Given the description of an element on the screen output the (x, y) to click on. 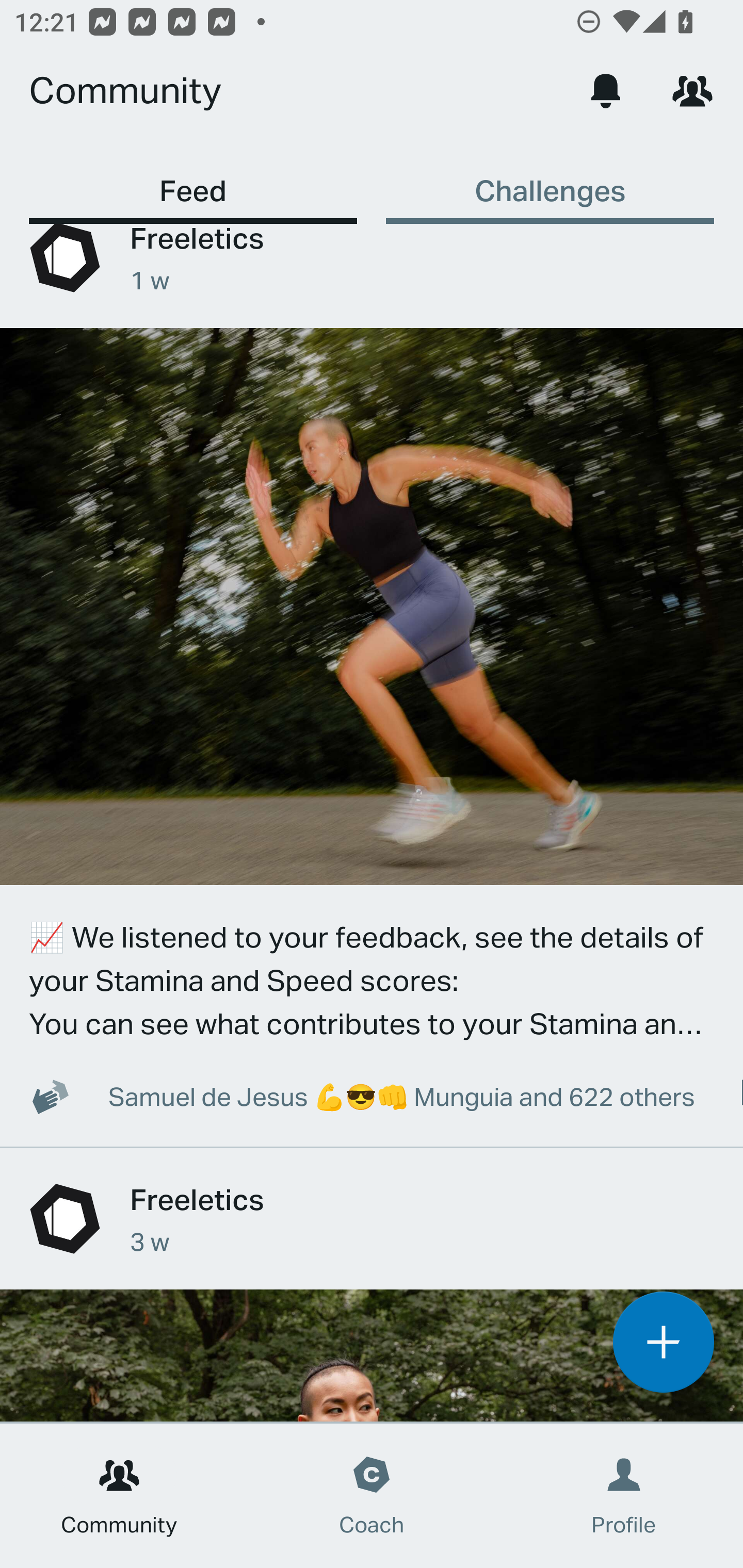
Notifications (605, 90)
Network (692, 90)
Feed (192, 180)
Challenges (549, 180)
Samuel de Jesus 💪😎👊 Munguia and 622 others (351, 1095)
Coach (371, 1495)
Profile (624, 1495)
